Given the description of an element on the screen output the (x, y) to click on. 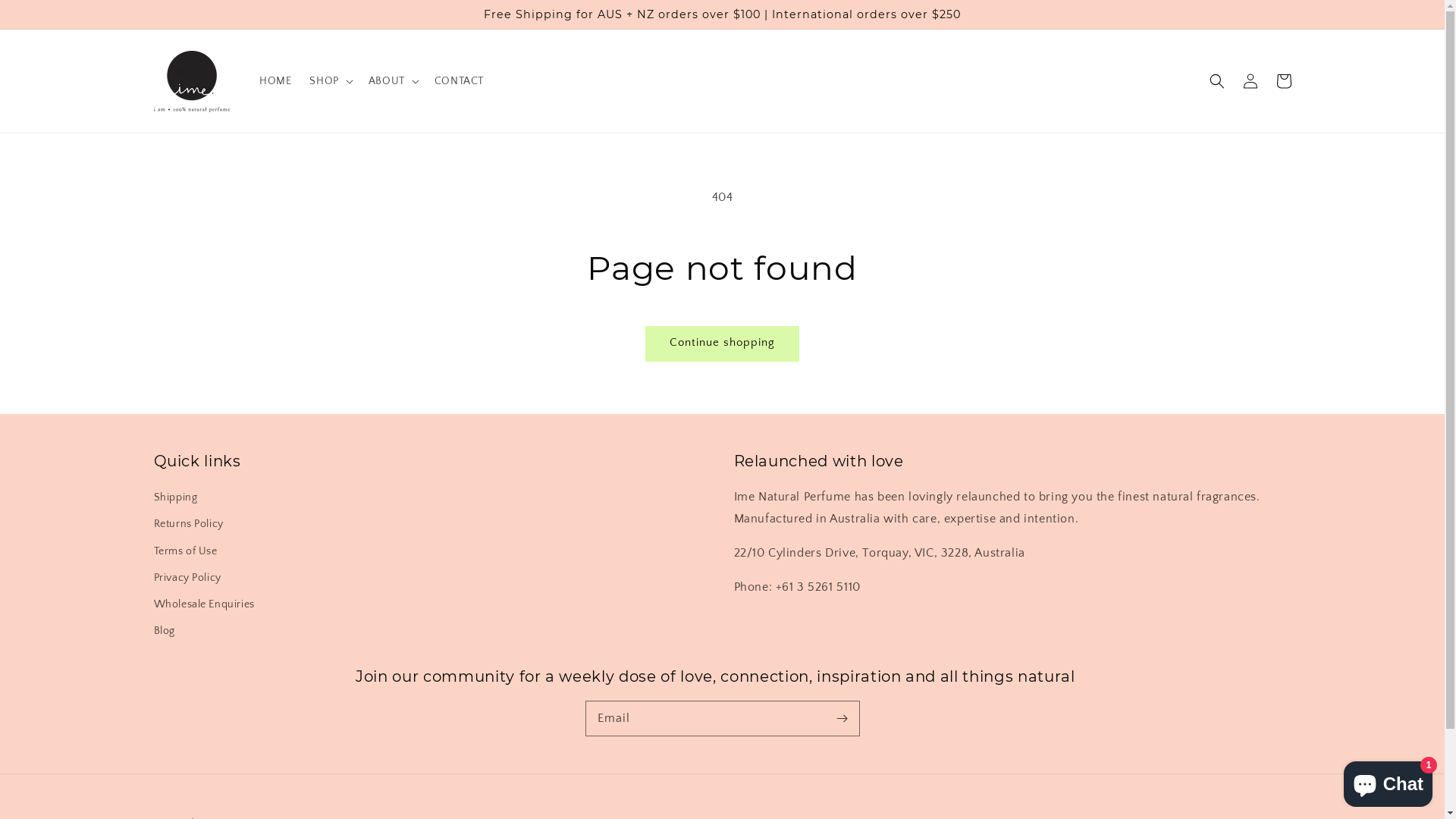
Privacy Policy Element type: text (186, 577)
Log in Element type: text (1249, 80)
Cart Element type: text (1282, 80)
Terms of Use Element type: text (184, 551)
HOME Element type: text (275, 81)
Continue shopping Element type: text (722, 343)
Blog Element type: text (163, 631)
Shipping Element type: text (175, 499)
Shopify online store chat Element type: hover (1388, 780)
Wholesale Enquiries Element type: text (203, 604)
Returns Policy Element type: text (187, 524)
CONTACT Element type: text (458, 81)
